Given the description of an element on the screen output the (x, y) to click on. 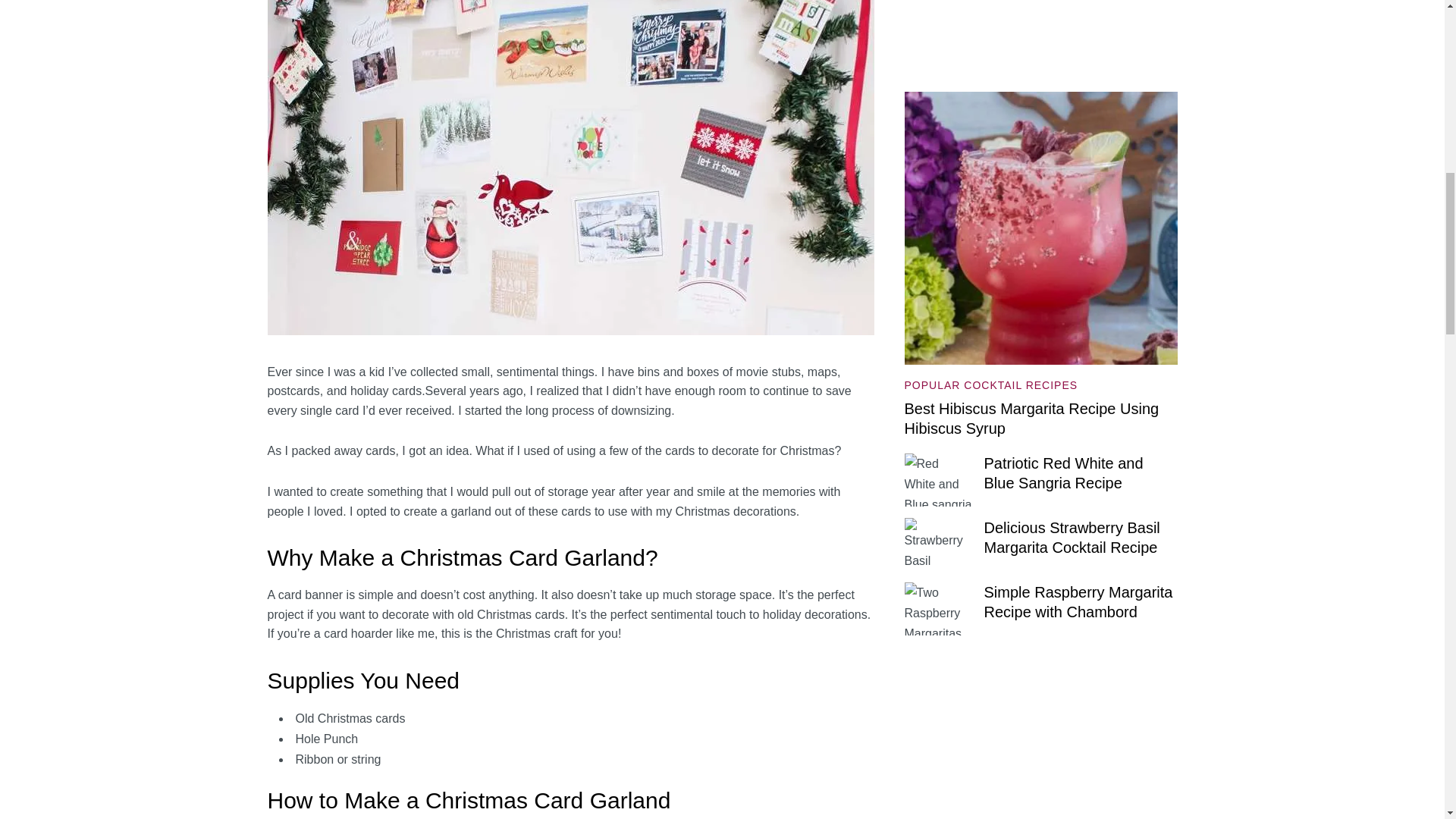
Delicious Strawberry Basil Margarita Cocktail Recipe (1072, 537)
Patriotic Red White and Blue Sangria Recipe (1063, 473)
Simple Raspberry Margarita Recipe with Chambord (1078, 601)
Best Hibiscus Margarita Recipe Using Hibiscus Syrup (1031, 418)
Best Hibiscus Margarita Recipe Using Hibiscus Syrup (1040, 101)
